Given the description of an element on the screen output the (x, y) to click on. 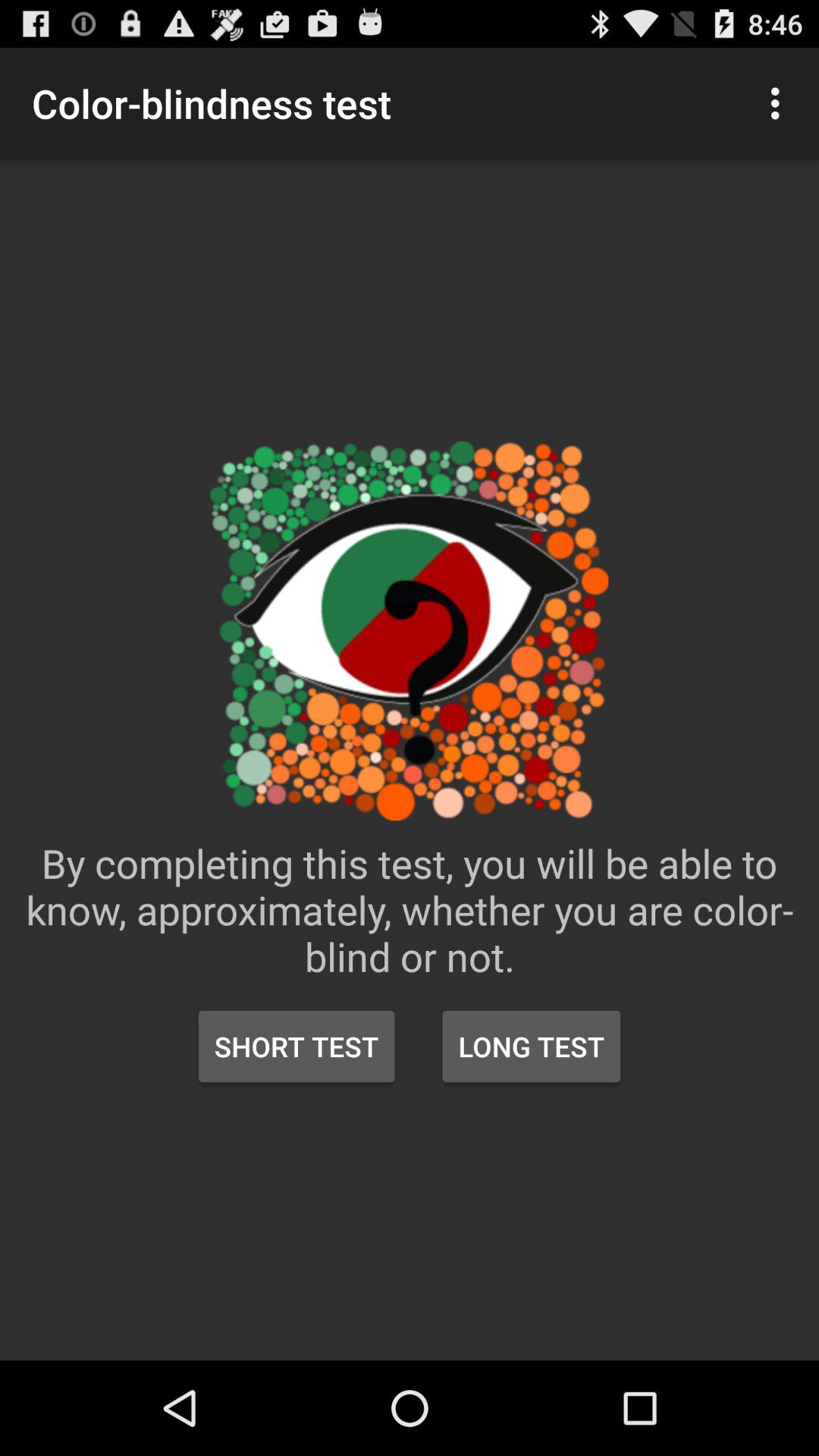
click the item to the right of the short test (531, 1046)
